Given the description of an element on the screen output the (x, y) to click on. 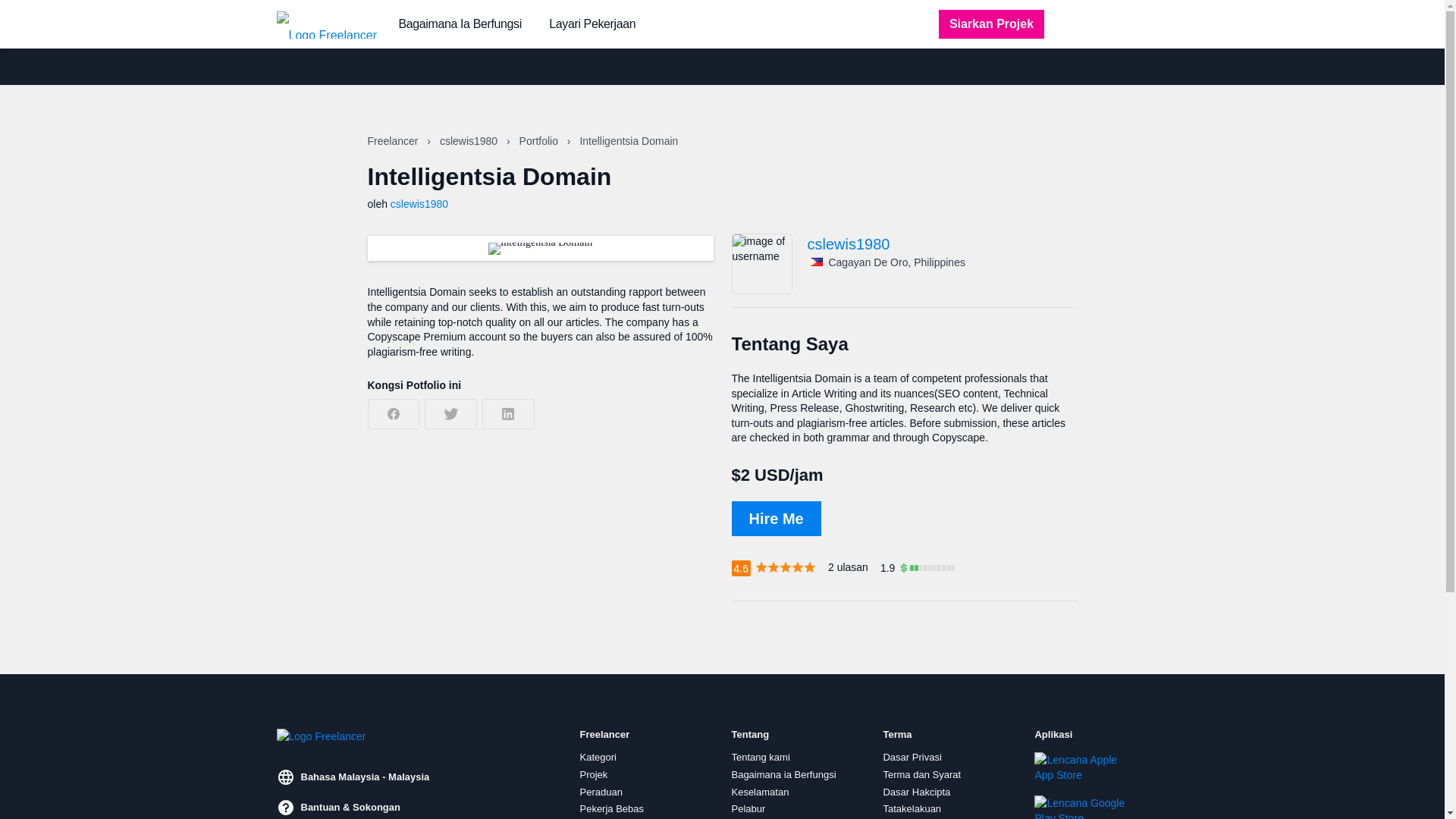
Kategori (597, 757)
Bahasa Malaysia - Malaysia (352, 777)
Kongsi di Facebook (392, 413)
Peraduan (600, 791)
Flag of Philippines (815, 261)
cslewis1980 (469, 141)
Layari Pekerjaan (591, 24)
Pekerja Bebas (611, 808)
Kongsi di Twitter (450, 413)
Bagaimana Ia Berfungsi (459, 24)
